Given the description of an element on the screen output the (x, y) to click on. 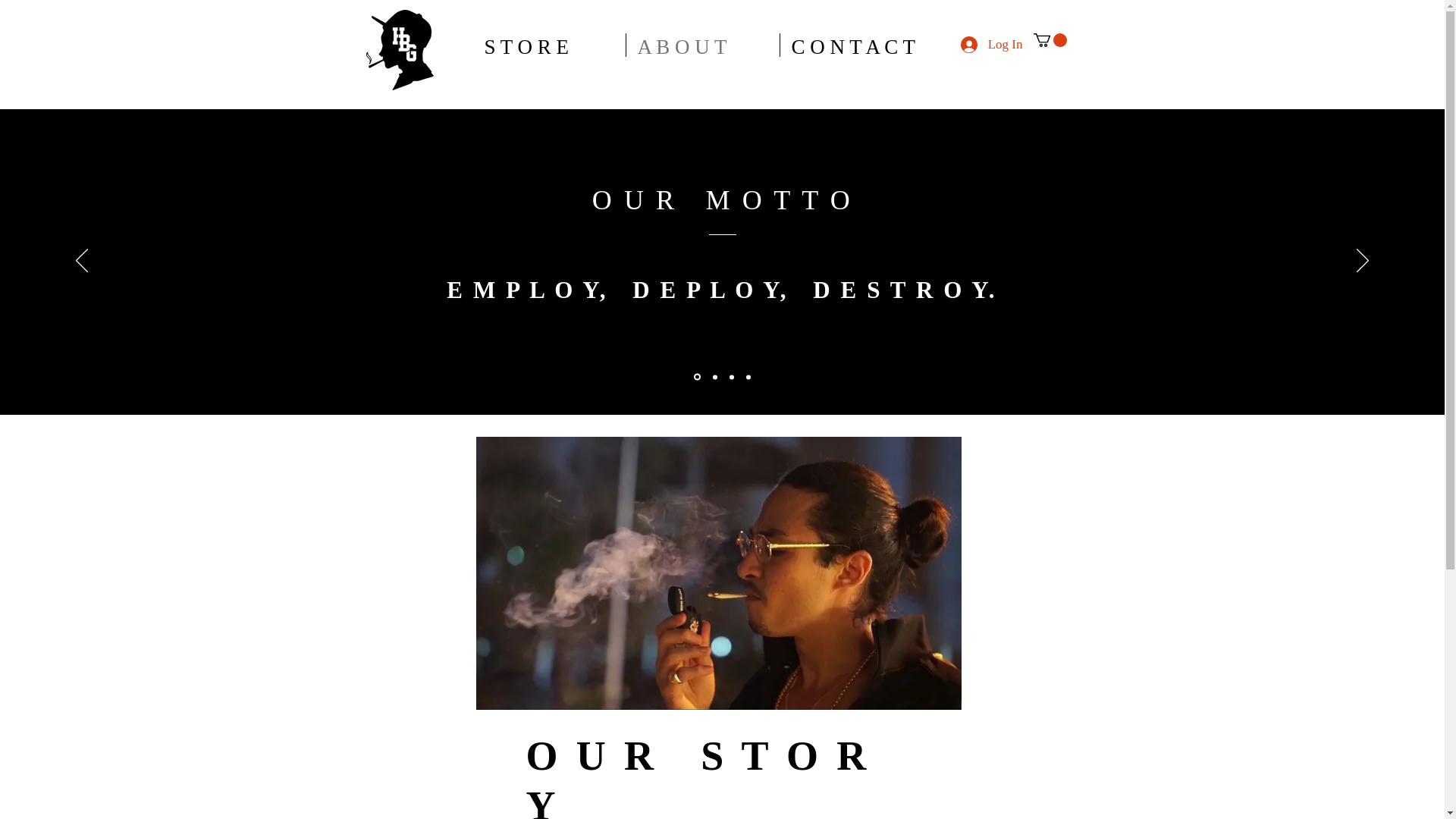
C O N T A C T (873, 44)
A B O U T (702, 44)
S T O R E (549, 44)
Log In (991, 44)
